Given the description of an element on the screen output the (x, y) to click on. 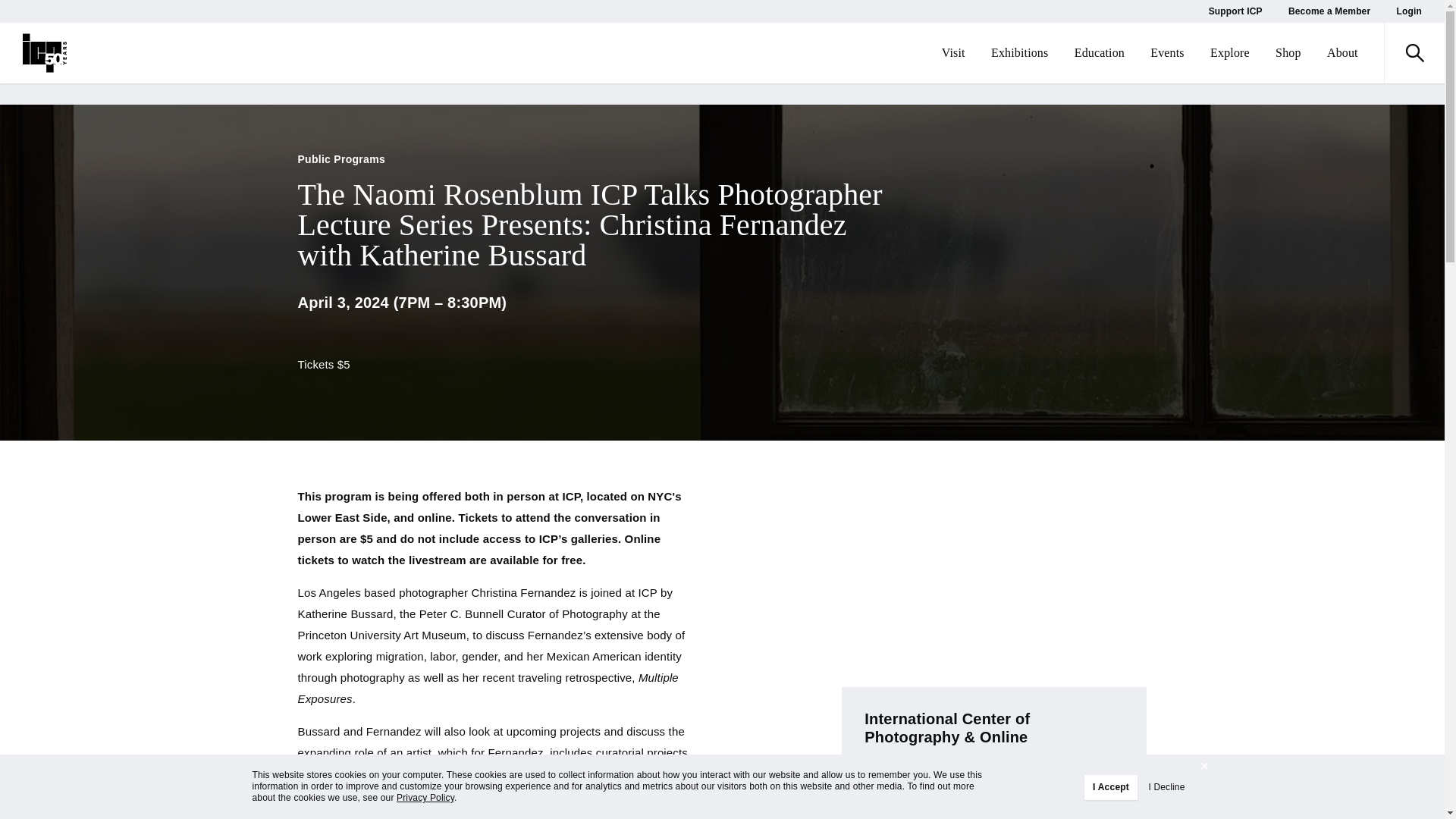
Education (1099, 53)
Become a Member (1329, 11)
Support ICP (1235, 11)
Login (1409, 11)
Exhibitions (1019, 53)
